Given the description of an element on the screen output the (x, y) to click on. 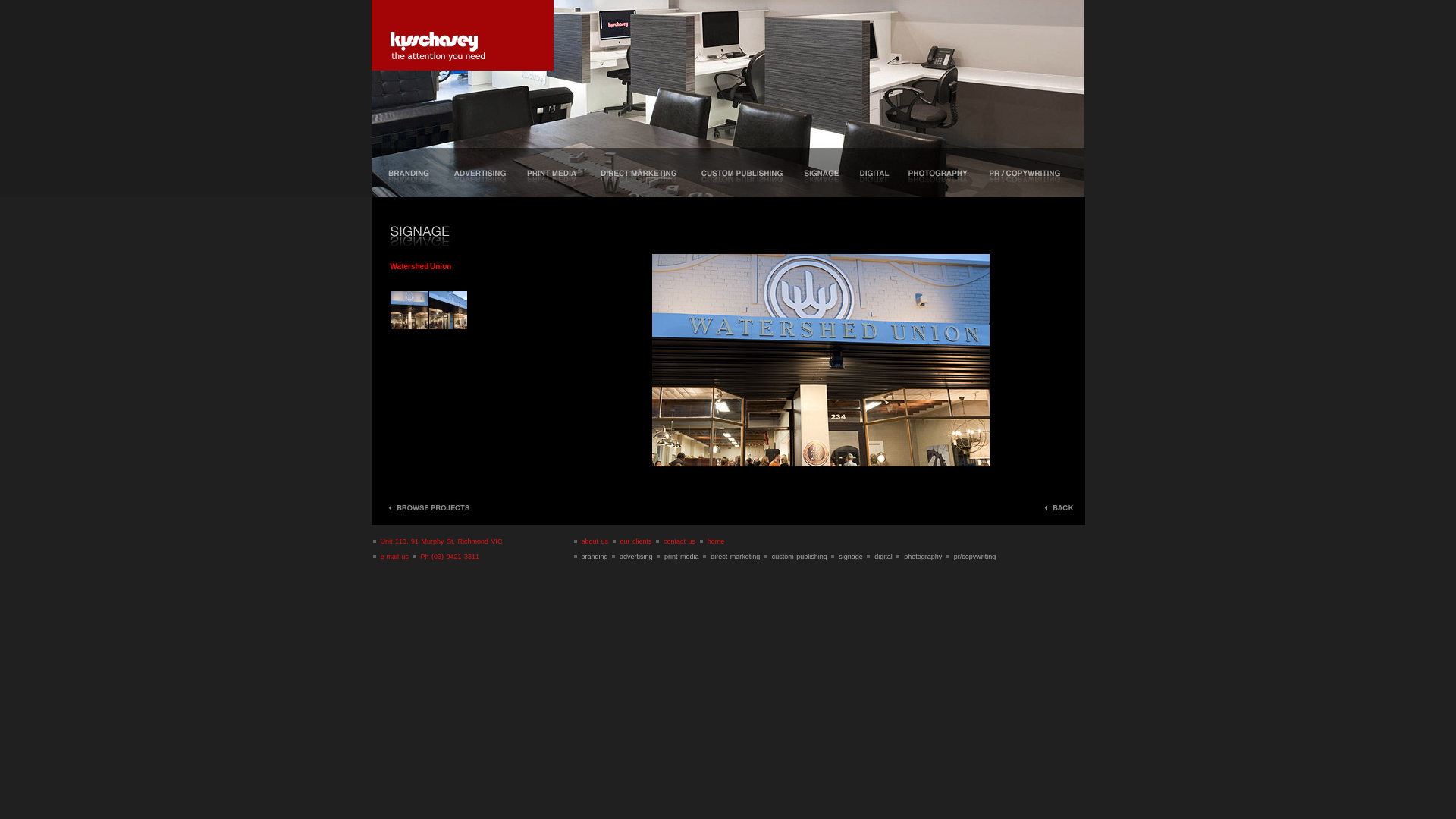
our clients Element type: text (636, 541)
about us Element type: text (594, 541)
direct marketing Element type: text (734, 556)
photography Element type: text (923, 556)
e-mail us Element type: text (394, 556)
custom publishing Element type: text (800, 556)
signage Element type: text (850, 556)
advertising Element type: text (635, 556)
pr/copywriting Element type: text (974, 556)
branding Element type: text (593, 556)
digital Element type: text (883, 556)
print media Element type: text (681, 556)
contact us Element type: text (679, 541)
home Element type: text (715, 541)
